Given the description of an element on the screen output the (x, y) to click on. 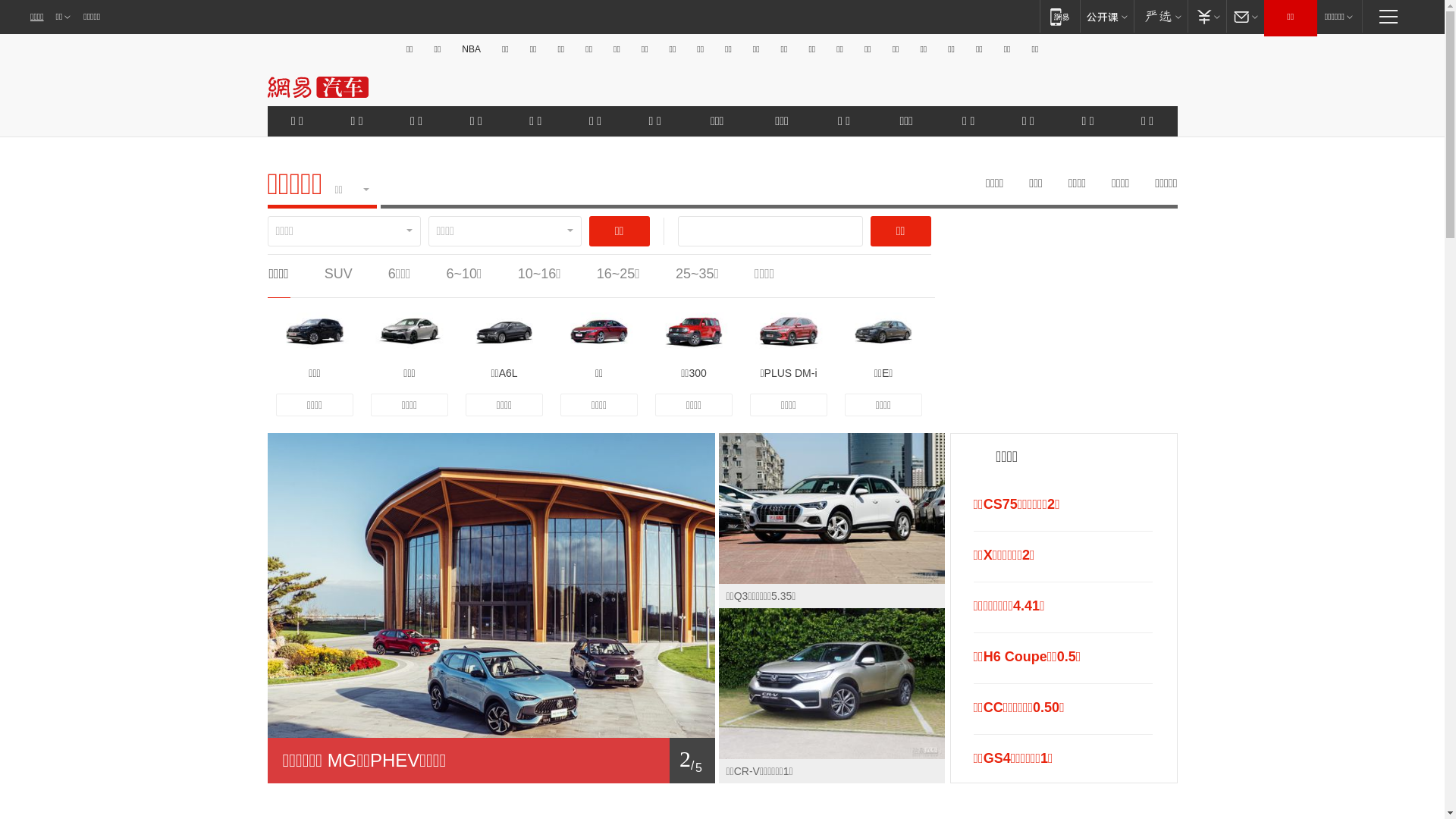
NBA Element type: text (471, 48)
1/ 5 Element type: text (490, 760)
SUV Element type: text (338, 273)
